Given the description of an element on the screen output the (x, y) to click on. 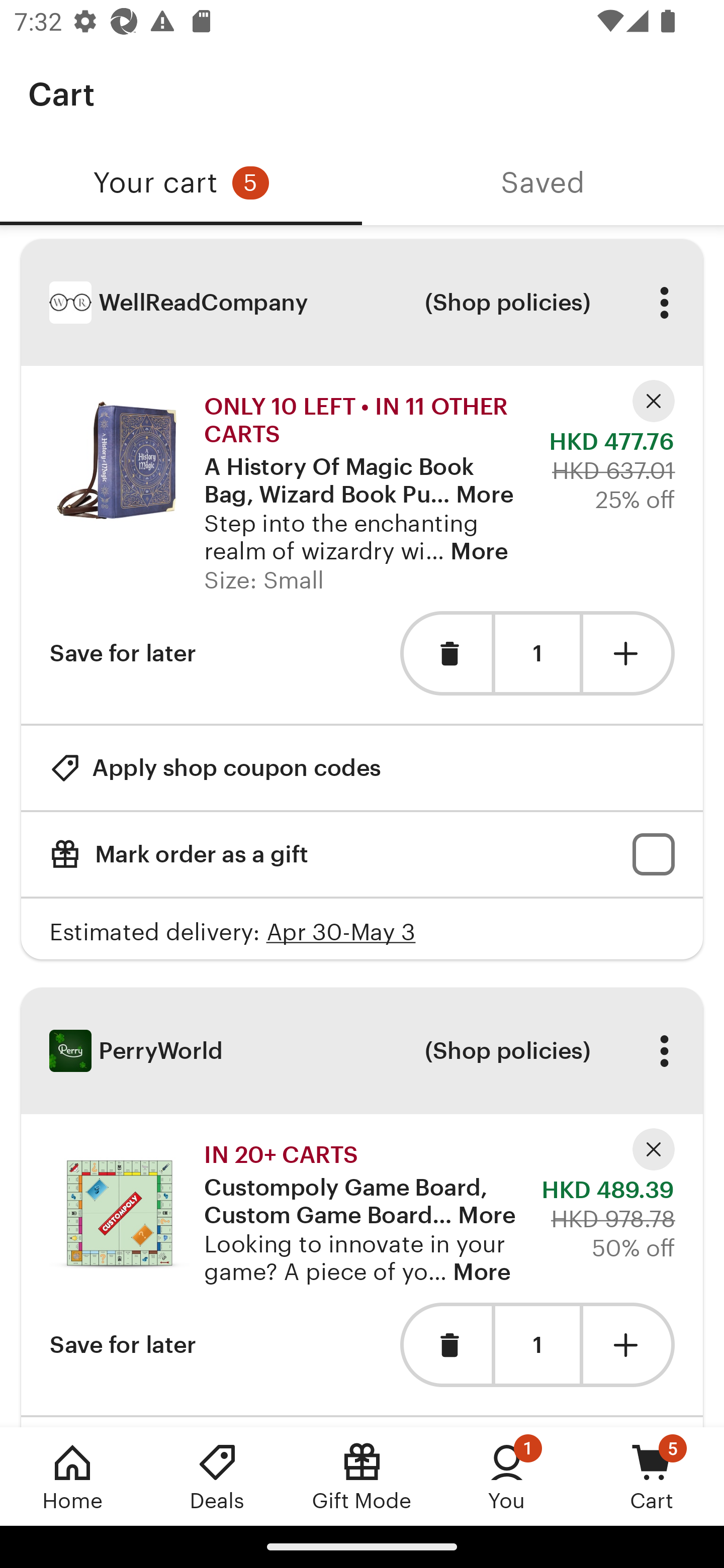
Saved, tab 2 of 2 Saved (543, 183)
WellReadCompany (Shop policies) More options (361, 302)
(Shop policies) (507, 302)
More options (663, 302)
Save for later (122, 653)
Remove item from cart (445, 653)
Add one unit to cart (628, 653)
1 (537, 653)
Apply shop coupon codes (215, 767)
Mark order as a gift (361, 854)
PerryWorld (Shop policies) More options (361, 1050)
(Shop policies) (507, 1050)
More options (663, 1050)
Save for later (122, 1345)
Remove item from cart (445, 1345)
Add one unit to cart (628, 1345)
1 (537, 1345)
Home (72, 1475)
Deals (216, 1475)
Gift Mode (361, 1475)
You, 1 new notification You (506, 1475)
